Given the description of an element on the screen output the (x, y) to click on. 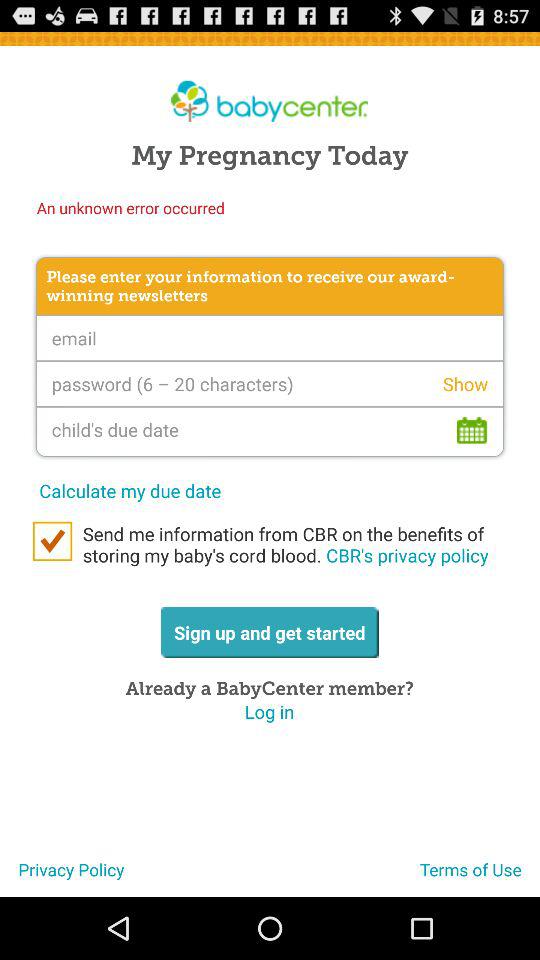
toggle receiving information from cbr (52, 541)
